Given the description of an element on the screen output the (x, y) to click on. 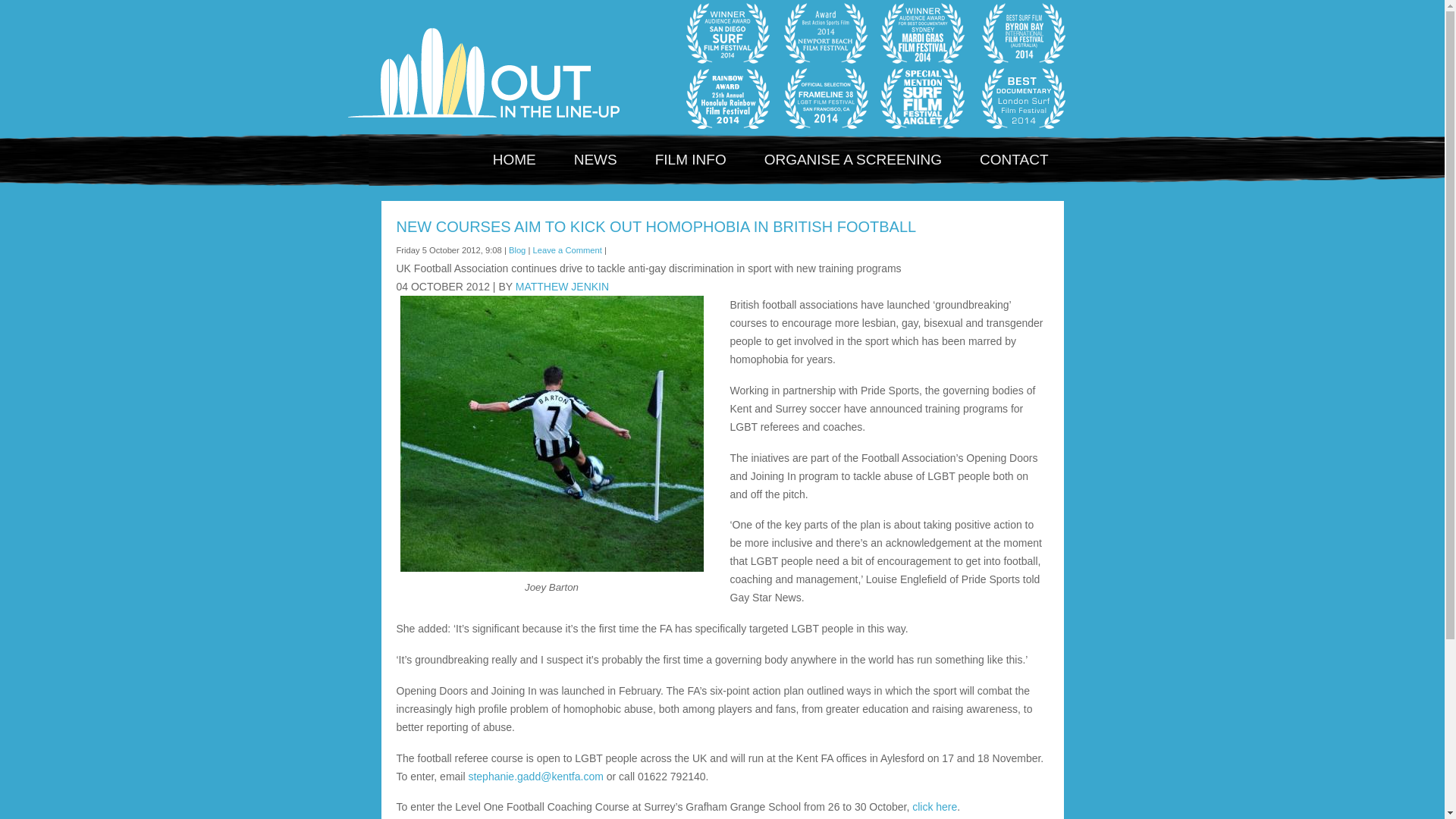
 click here (932, 806)
Leave a Comment (566, 249)
MATTHEW JENKIN (561, 286)
CONTACT (1012, 159)
news (595, 159)
Blog (516, 249)
NEWS (595, 159)
NEW COURSES AIM TO KICK OUT HOMOPHOBIA IN BRITISH FOOTBALL (655, 226)
FILM INFO (690, 159)
HOME (514, 159)
ORGANISE A SCREENING (852, 159)
